Given the description of an element on the screen output the (x, y) to click on. 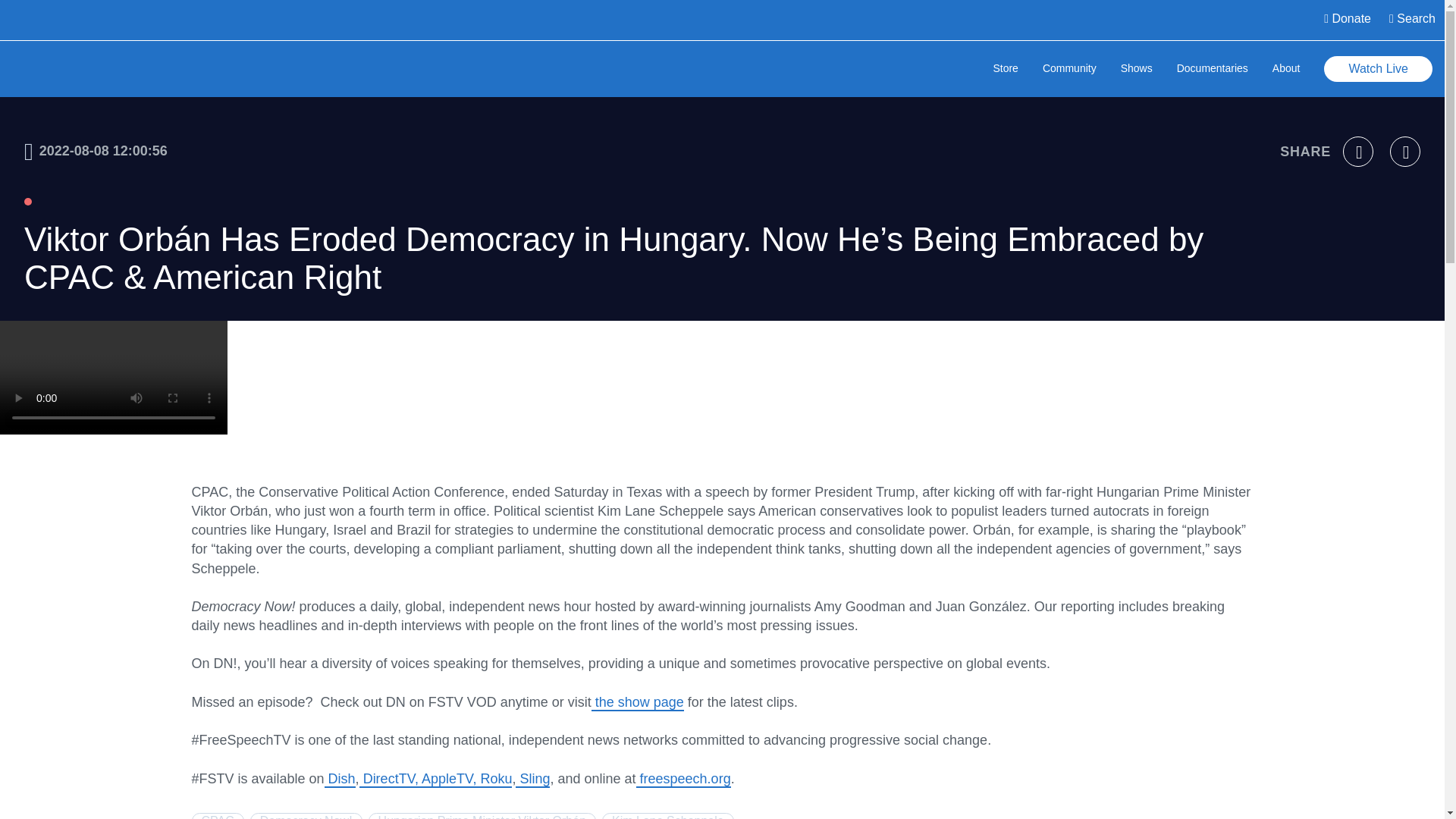
Community (1069, 69)
Donate (1347, 20)
Search (1412, 20)
Documentaries (1211, 69)
Watch Live (1377, 68)
